Given the description of an element on the screen output the (x, y) to click on. 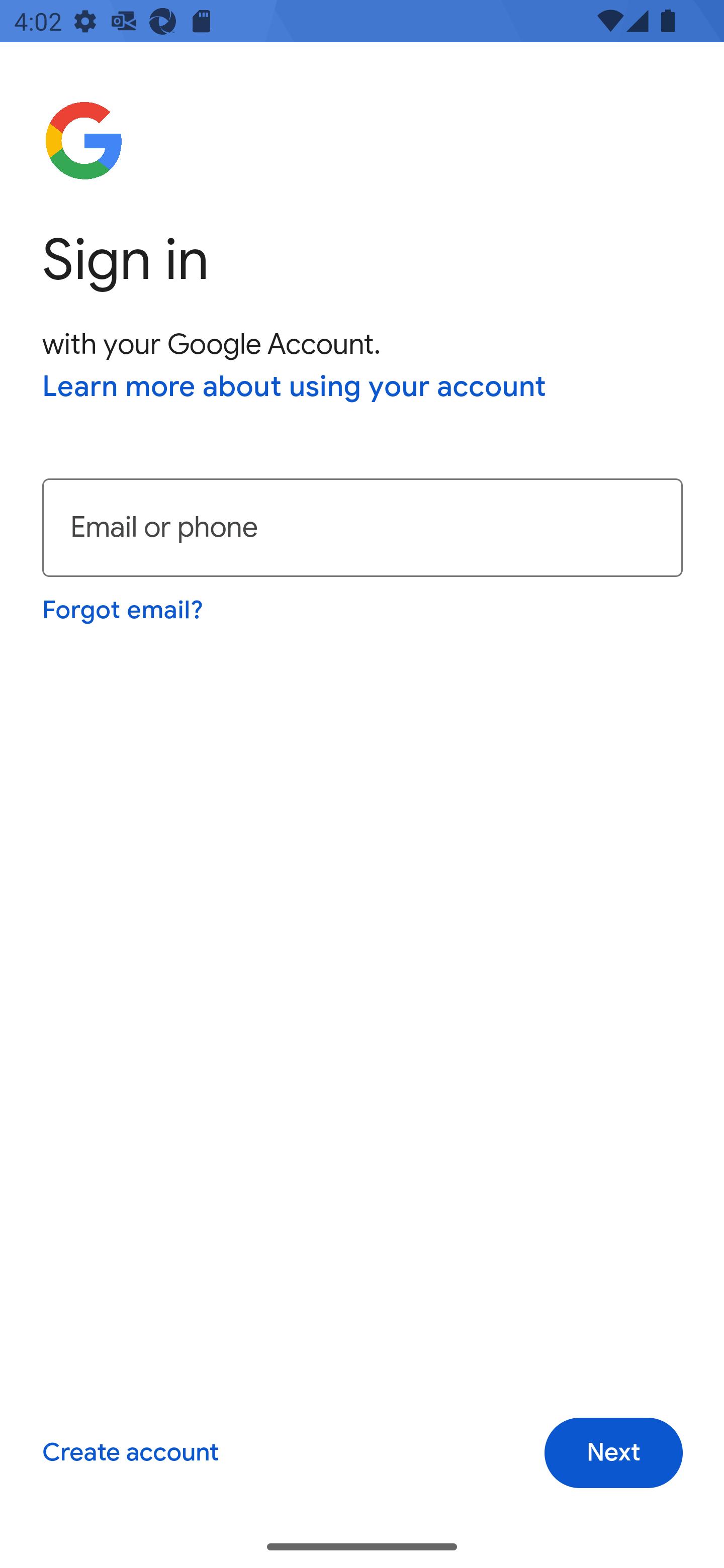
Learn more about using your account (294, 388)
Forgot email? (123, 609)
Next (613, 1453)
Create account (129, 1453)
